Given the description of an element on the screen output the (x, y) to click on. 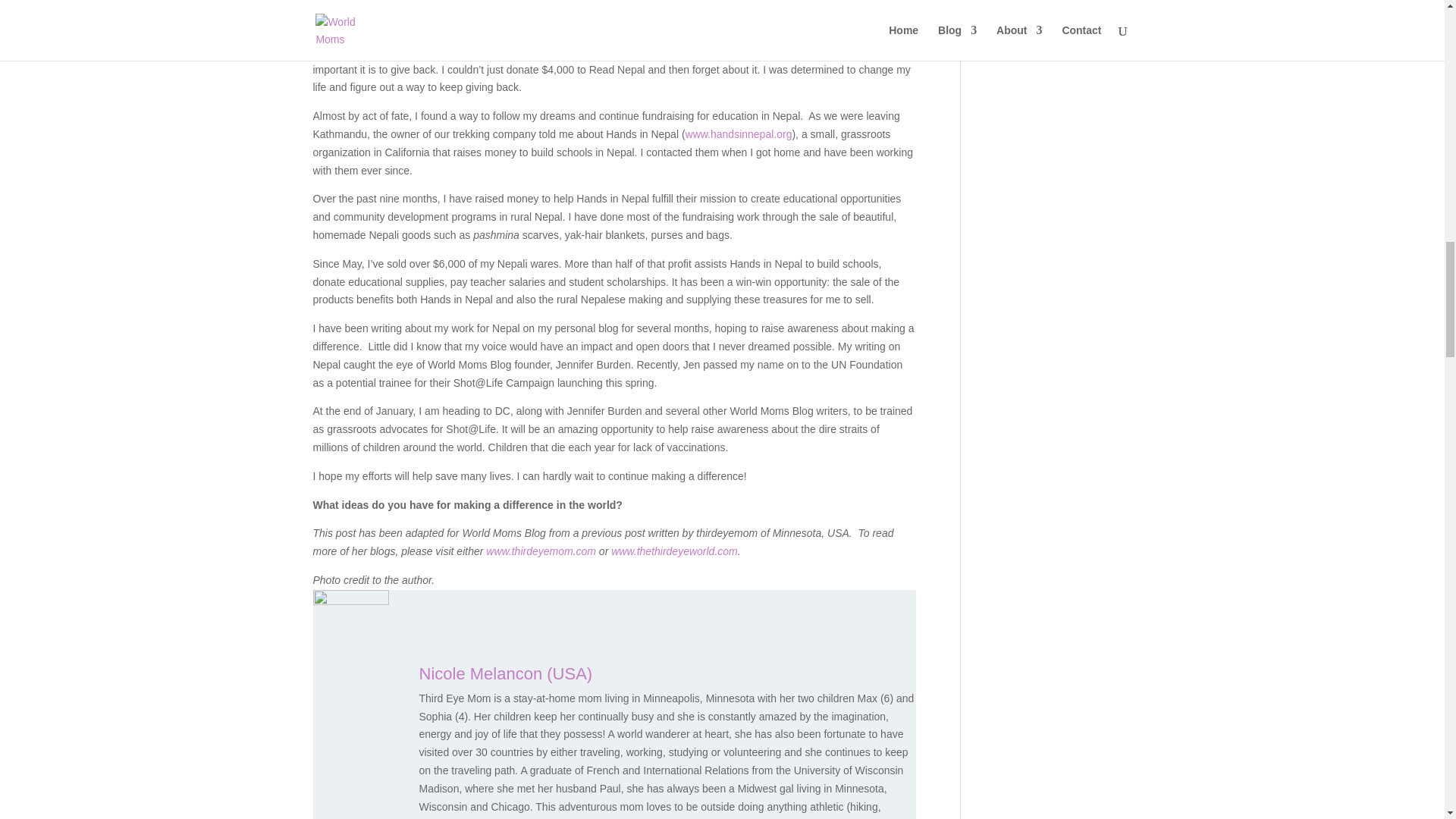
www.thirdeyemom.com (540, 551)
www.thethirdeyeworld.com (674, 551)
www.handsinnepal.org (738, 133)
